Given the description of an element on the screen output the (x, y) to click on. 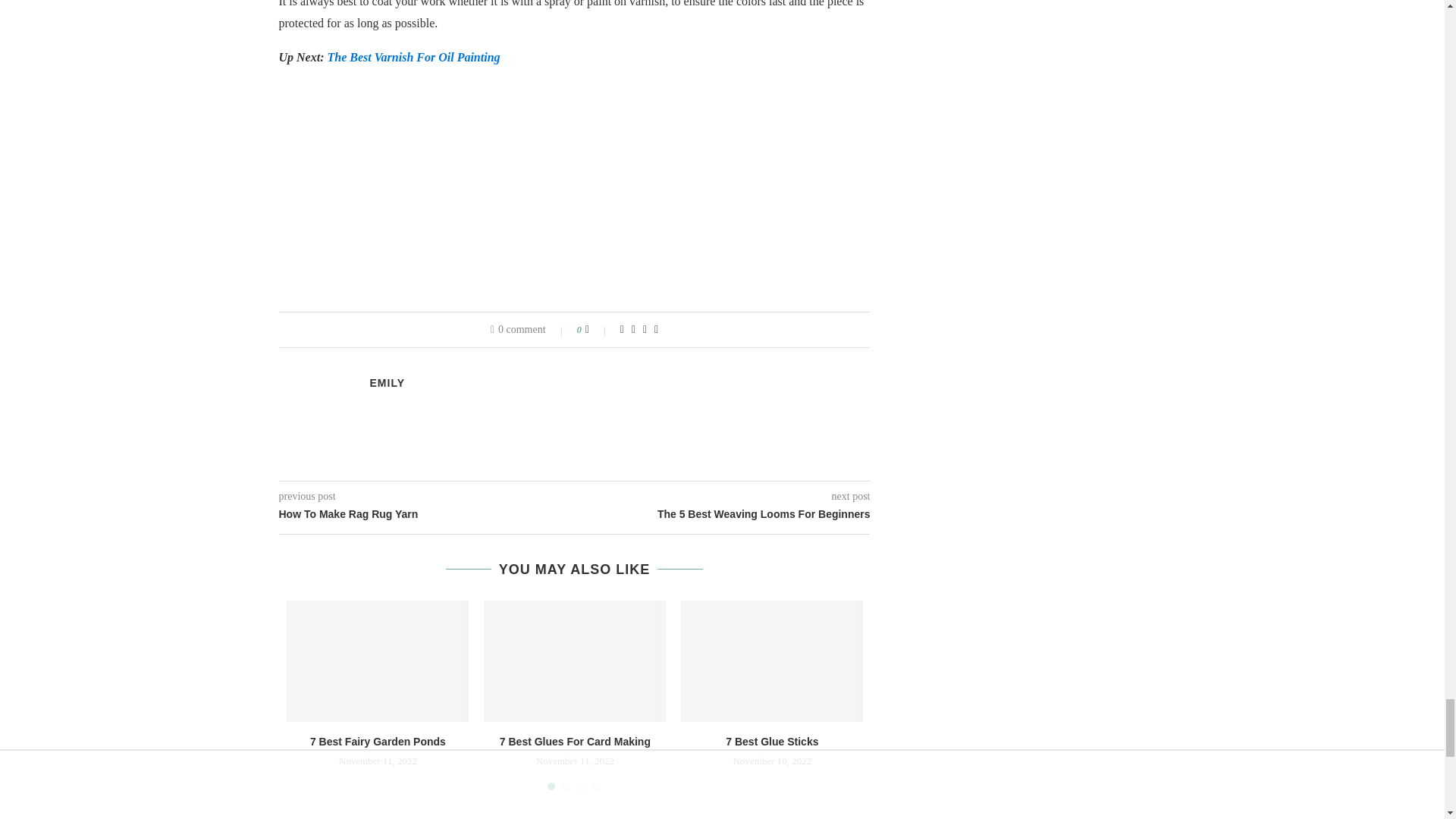
7 Best Glues For Card Making (574, 660)
7 Best Glue Sticks (772, 660)
Like (597, 329)
Posts by Emily (387, 382)
7 Best Fairy Garden Ponds (377, 660)
